Given the description of an element on the screen output the (x, y) to click on. 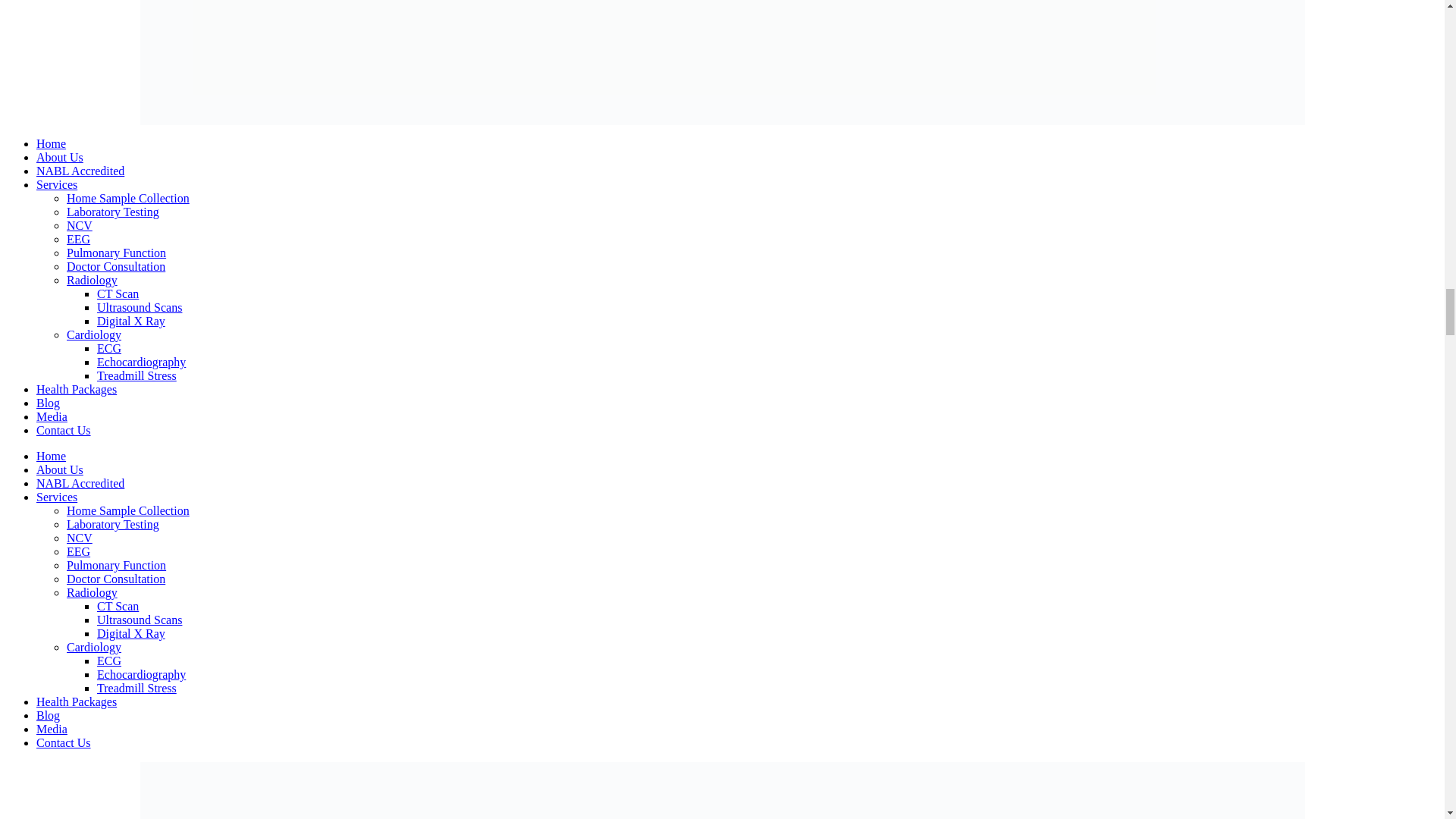
About Us (59, 156)
NCV (79, 537)
Digital X Ray (131, 320)
Doctor Consultation (115, 578)
Cardiology (93, 334)
Radiology (91, 592)
Home (50, 455)
Doctor Consultation (115, 266)
NABL Accredited (79, 170)
Blog (47, 402)
Laboratory Testing (112, 523)
EEG (78, 238)
Home Sample Collection (127, 197)
Services (56, 184)
About Us (59, 469)
